Given the description of an element on the screen output the (x, y) to click on. 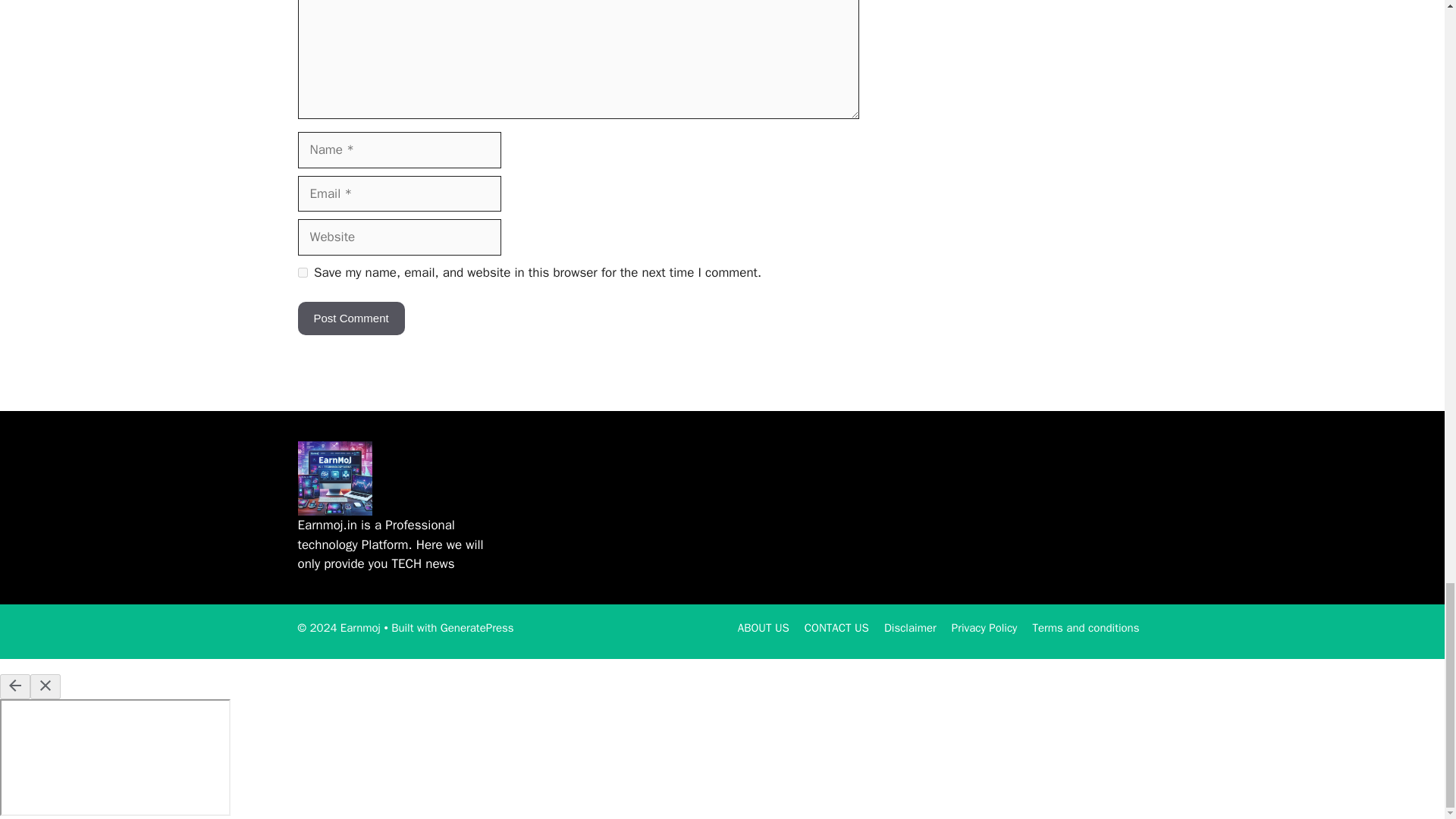
ABOUT US (763, 627)
yes (302, 272)
Post Comment (350, 318)
Disclaimer (909, 627)
GeneratePress (477, 627)
CONTACT US (837, 627)
Post Comment (350, 318)
Privacy Policy (984, 627)
Terms and conditions (1085, 627)
